Given the description of an element on the screen output the (x, y) to click on. 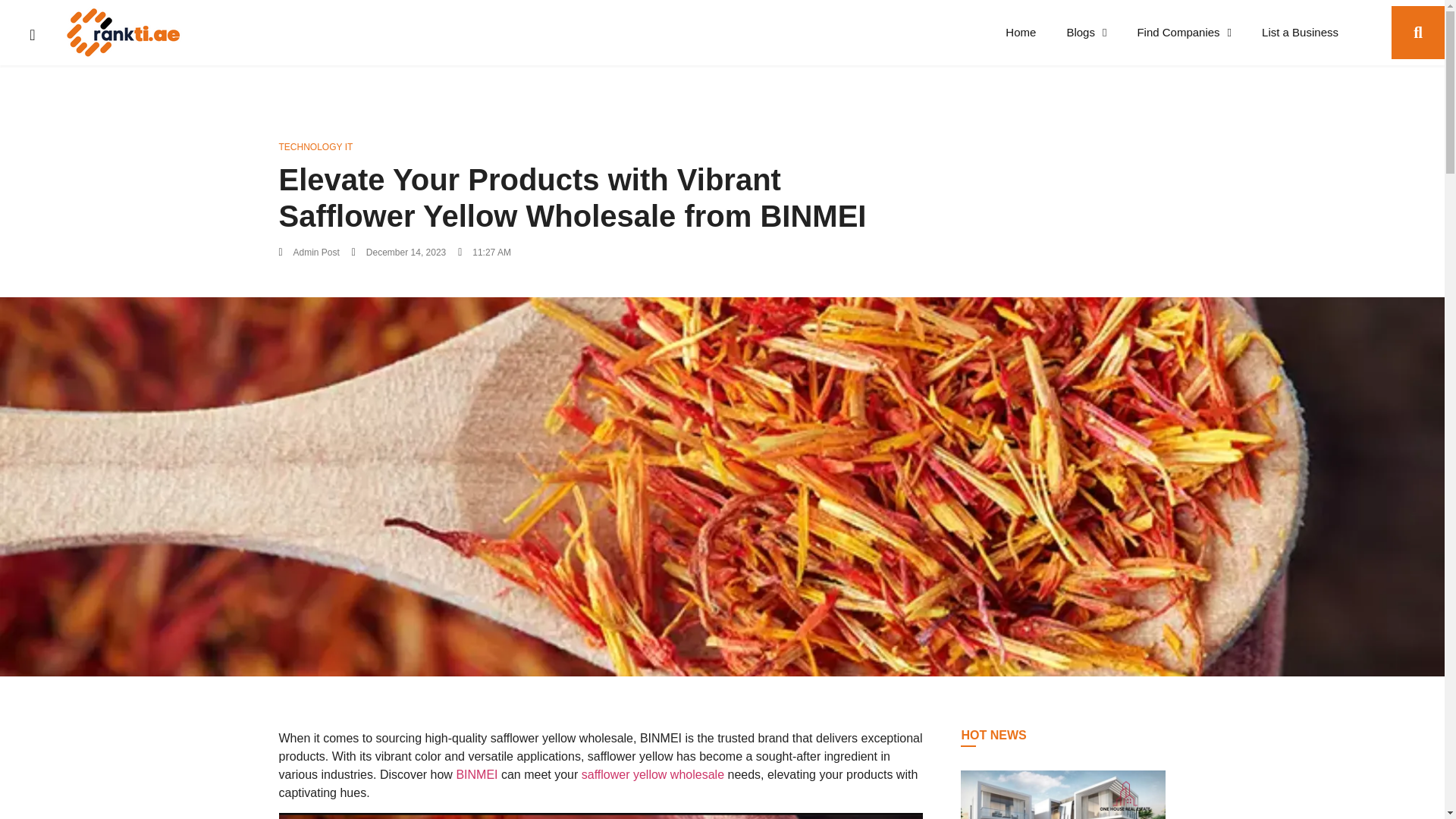
List a Business (1300, 32)
Home (1020, 32)
Blogs (1086, 32)
Find Companies (1183, 32)
